Given the description of an element on the screen output the (x, y) to click on. 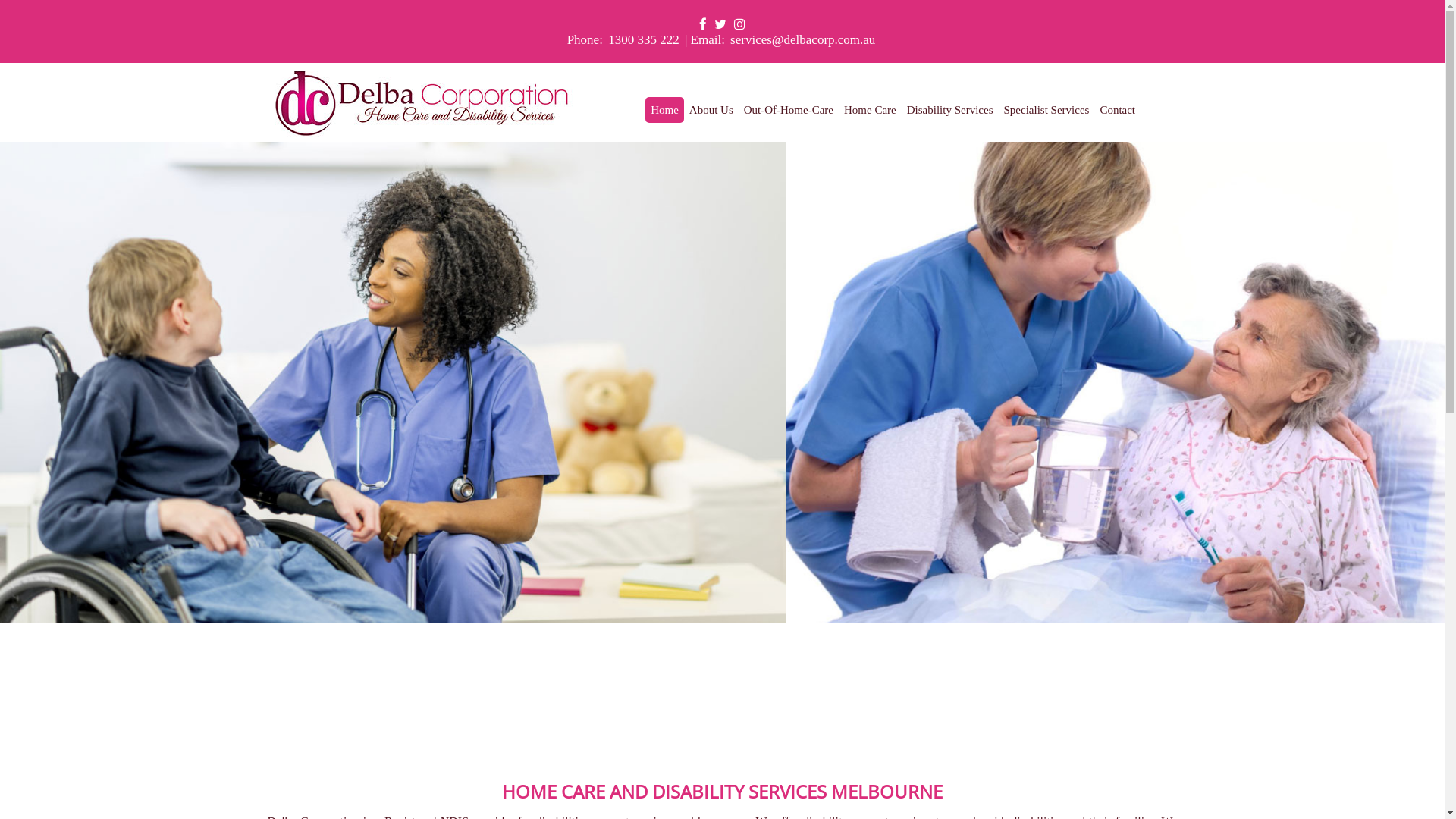
Home Element type: text (664, 109)
1300 335 222 Element type: text (643, 39)
Contact Element type: text (1117, 109)
Out-Of-Home-Care Element type: text (788, 109)
Disability Services Element type: text (949, 109)
services@delbacorp.com.au Element type: text (802, 39)
About Us Element type: text (711, 109)
Specialist Services Element type: text (1045, 109)
Home Care Element type: text (870, 109)
